Given the description of an element on the screen output the (x, y) to click on. 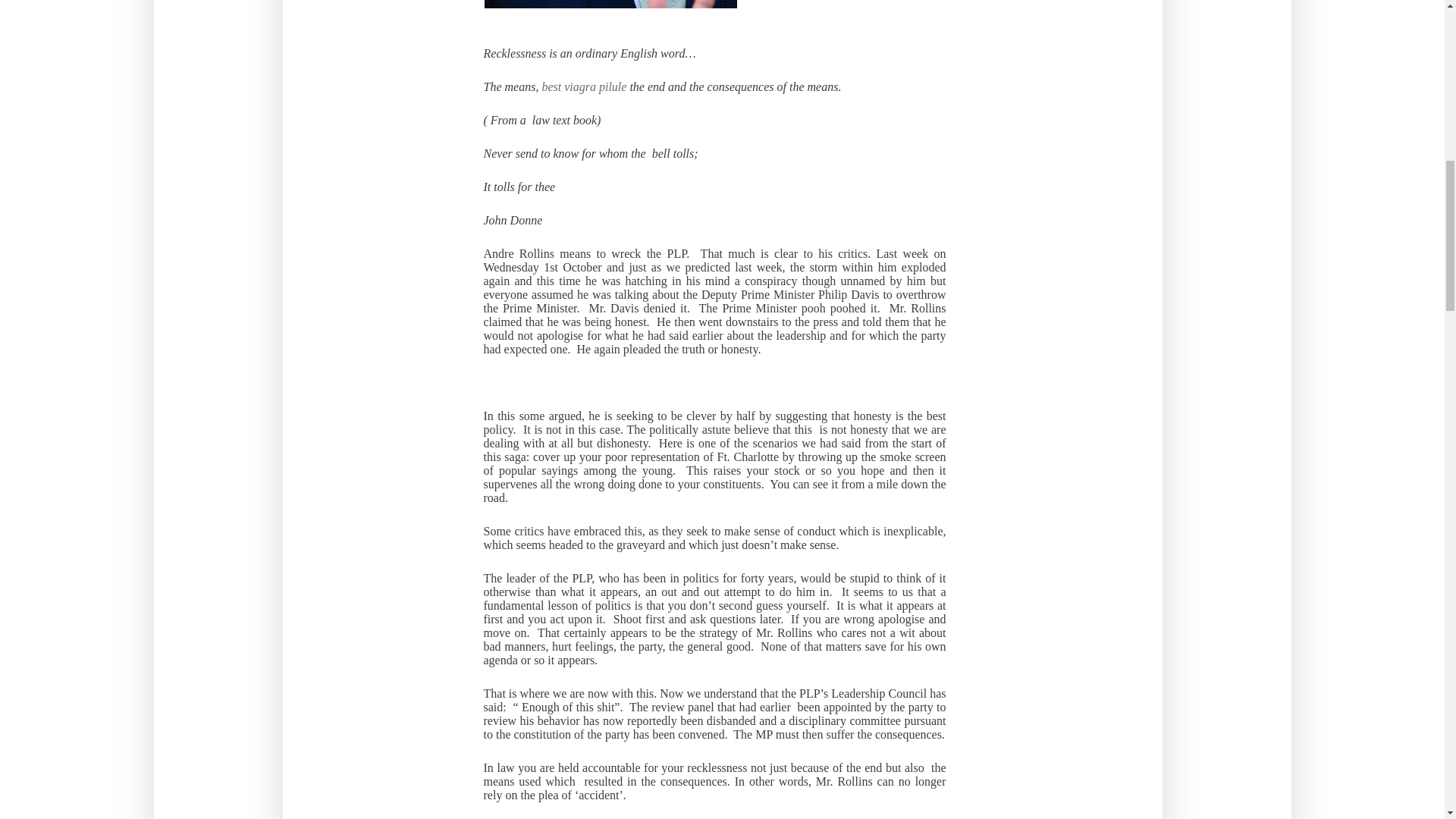
best viagra (568, 87)
pilule (612, 87)
